Given the description of an element on the screen output the (x, y) to click on. 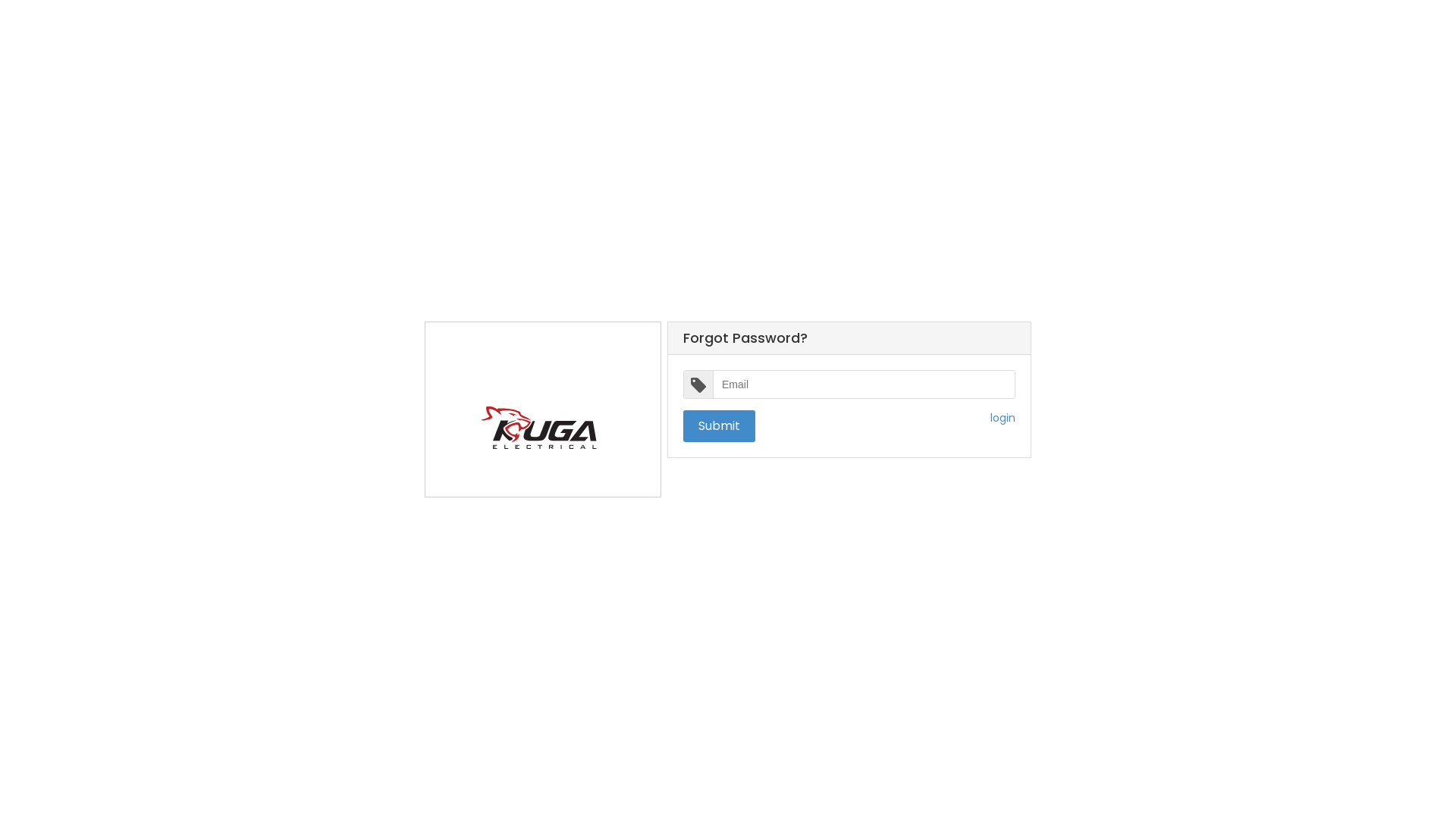
login Element type: text (1002, 417)
Submit Element type: text (719, 426)
